Given the description of an element on the screen output the (x, y) to click on. 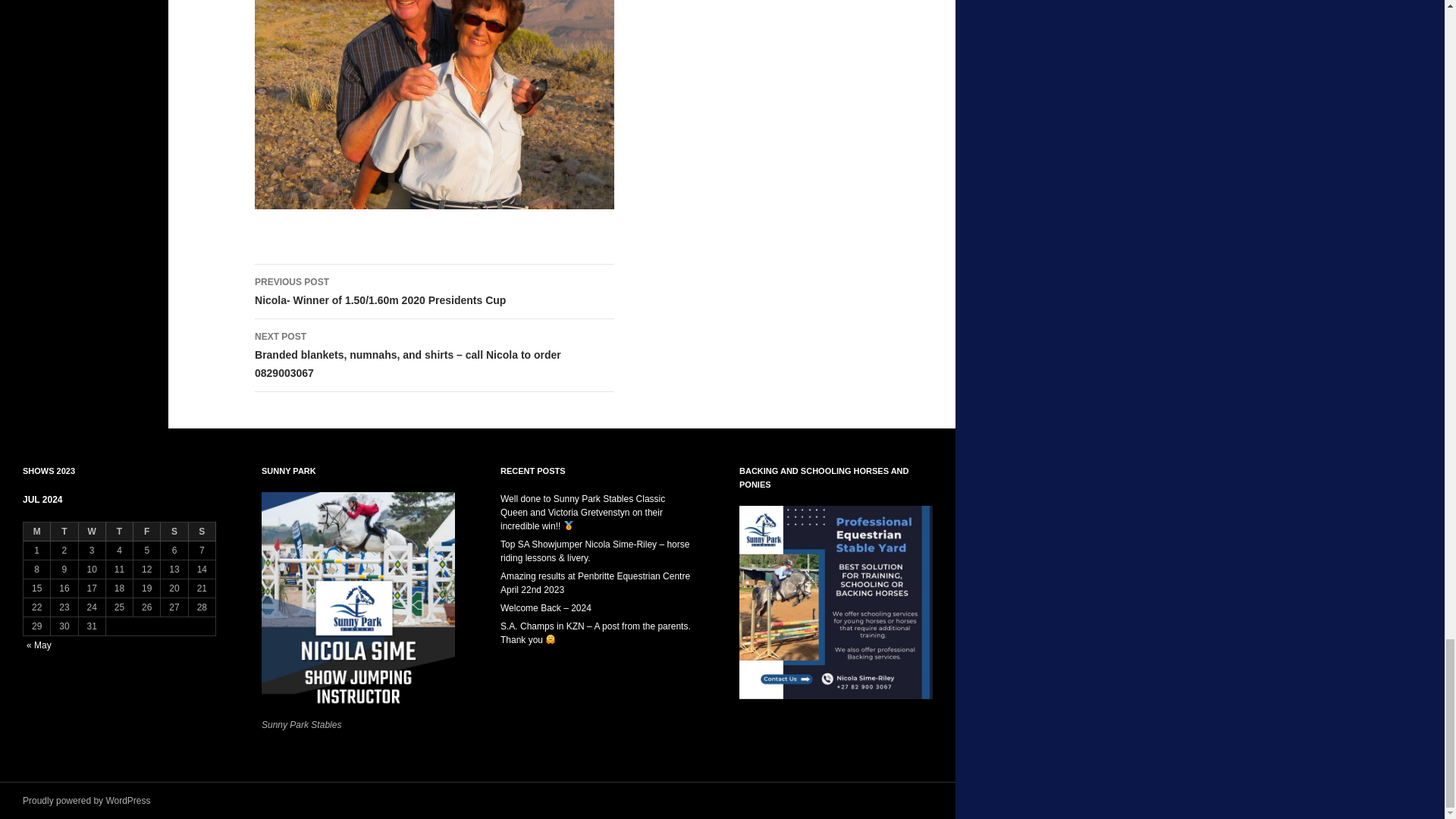
Sun (202, 531)
Fri (146, 531)
Wed (92, 531)
Tue (64, 531)
Sat (173, 531)
Mon (36, 531)
Thu (119, 531)
